Given the description of an element on the screen output the (x, y) to click on. 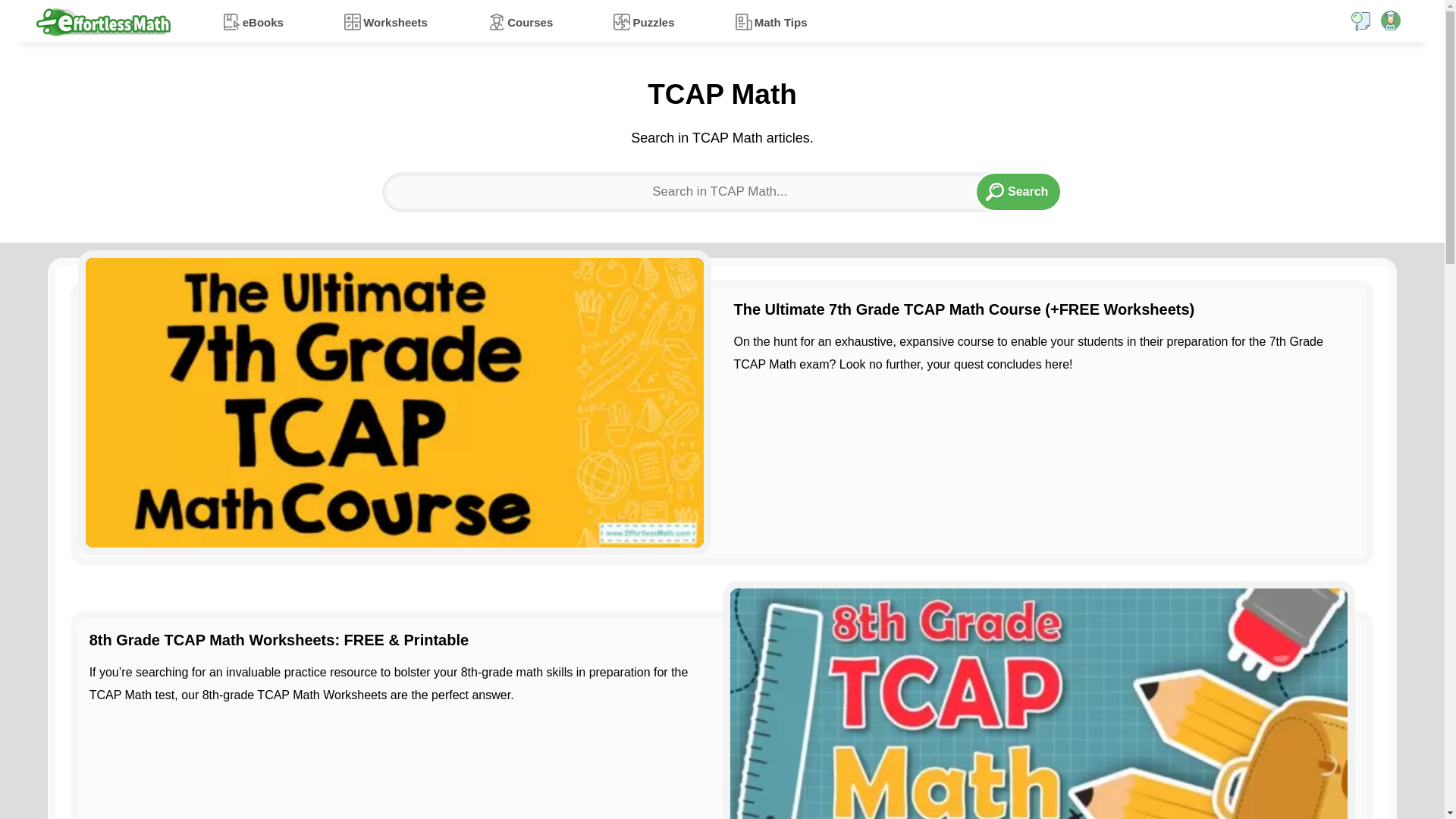
Worksheets (385, 21)
Search (1018, 191)
Effortless Math (103, 21)
eBooks (253, 21)
